Given the description of an element on the screen output the (x, y) to click on. 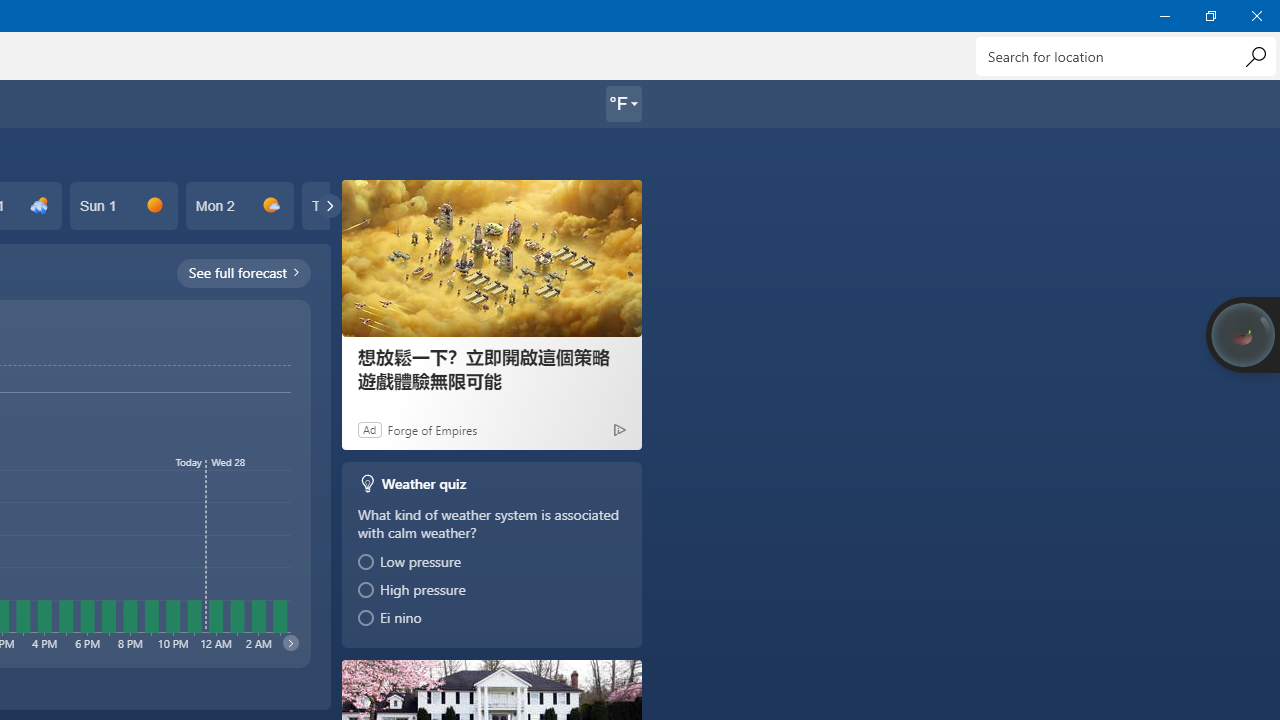
Restore Weather (1210, 15)
Close Weather (1256, 15)
Minimize Weather (1164, 15)
Search for location (1125, 56)
Search (1255, 56)
